Given the description of an element on the screen output the (x, y) to click on. 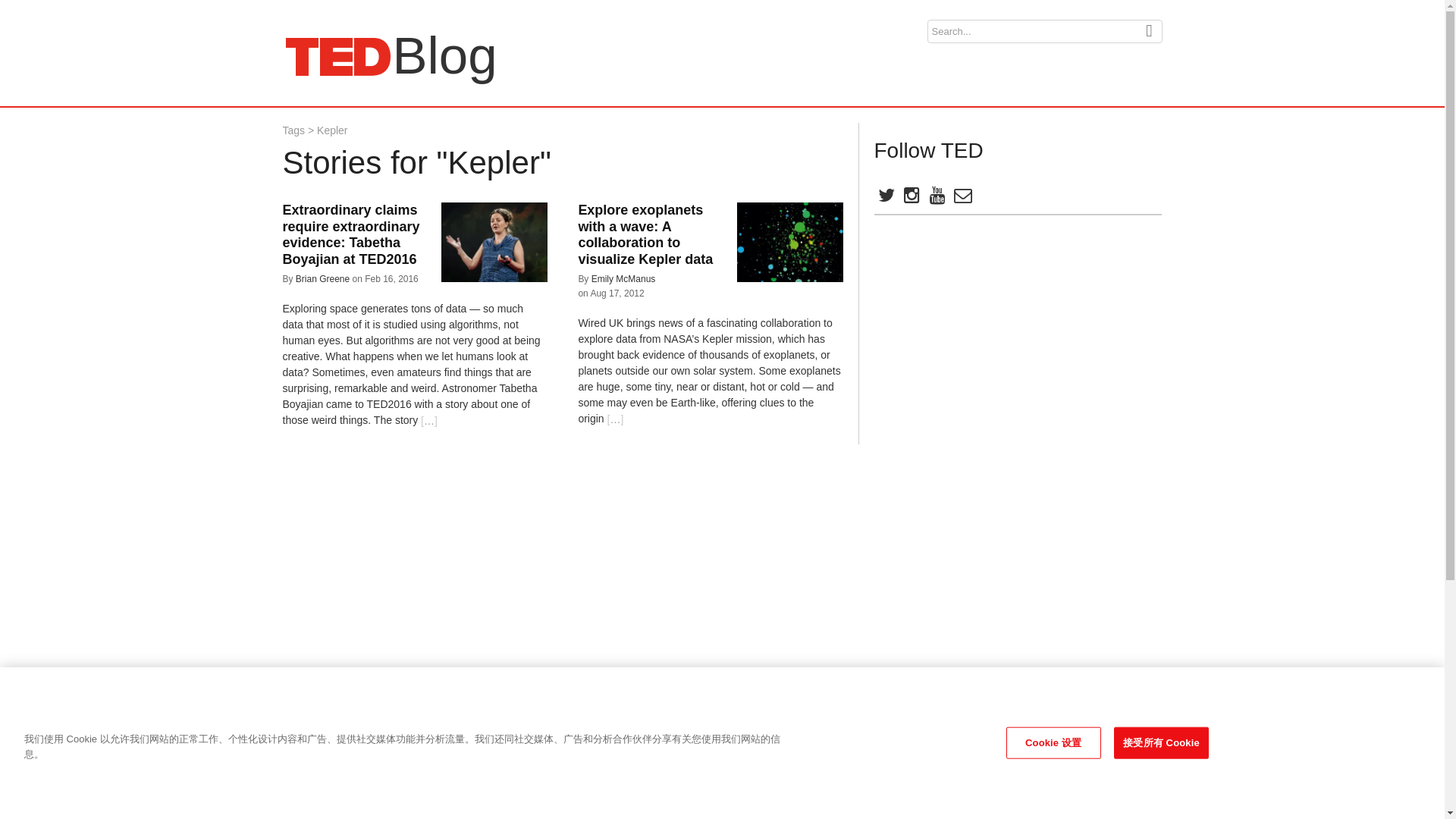
Read more (429, 421)
Tags (293, 130)
Subscribe to TED Blog by email (961, 197)
Read more (615, 419)
TED Blog (337, 56)
Posts by Emily McManus (623, 278)
YouTube (935, 197)
Instagram (910, 197)
Kepler (332, 130)
